Given the description of an element on the screen output the (x, y) to click on. 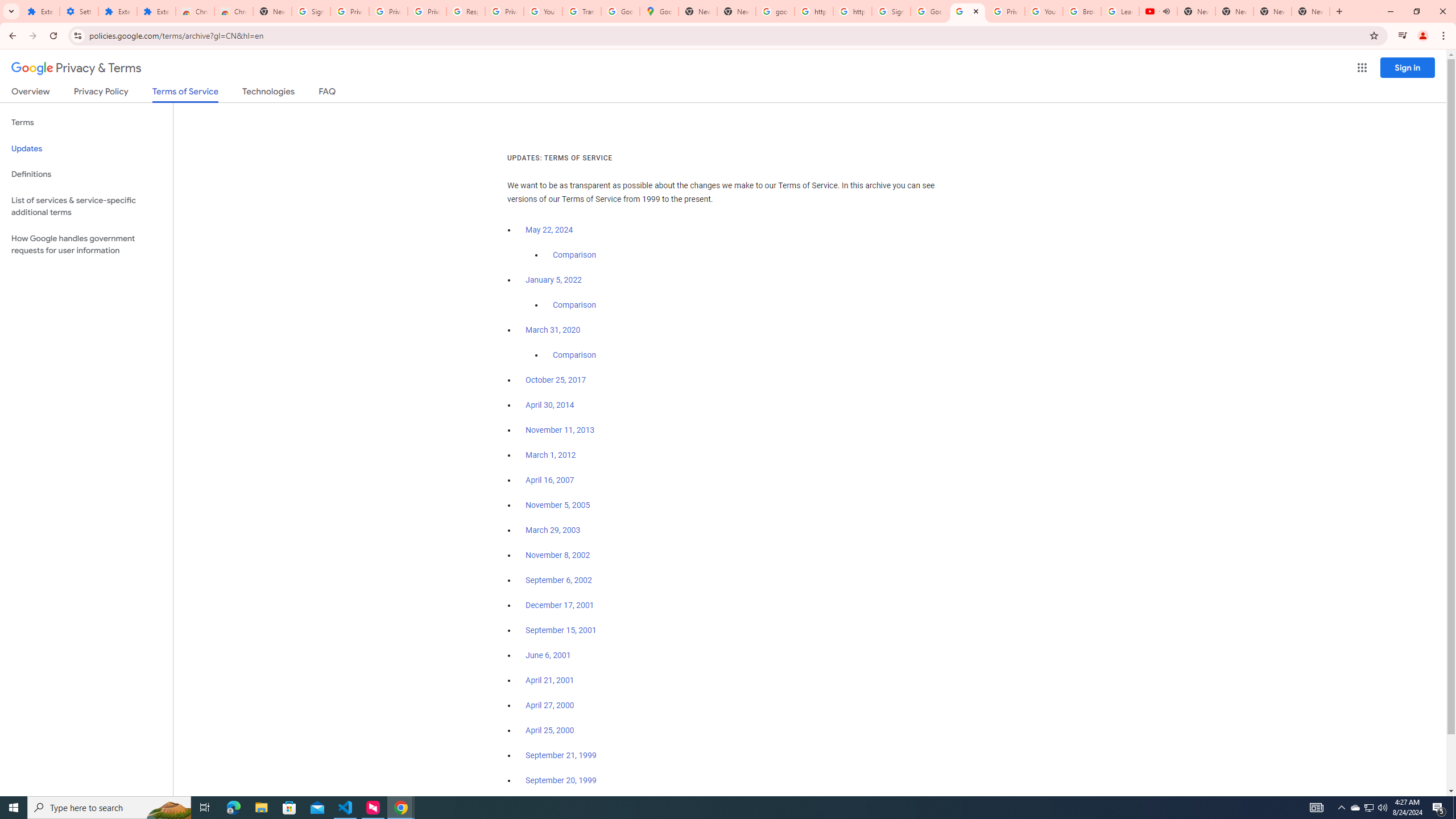
Mute tab (1165, 10)
April 21, 2001 (550, 679)
March 1, 2012 (550, 455)
September 6, 2002 (558, 579)
Chrome Web Store - Themes (233, 11)
Extensions (40, 11)
